Given the description of an element on the screen output the (x, y) to click on. 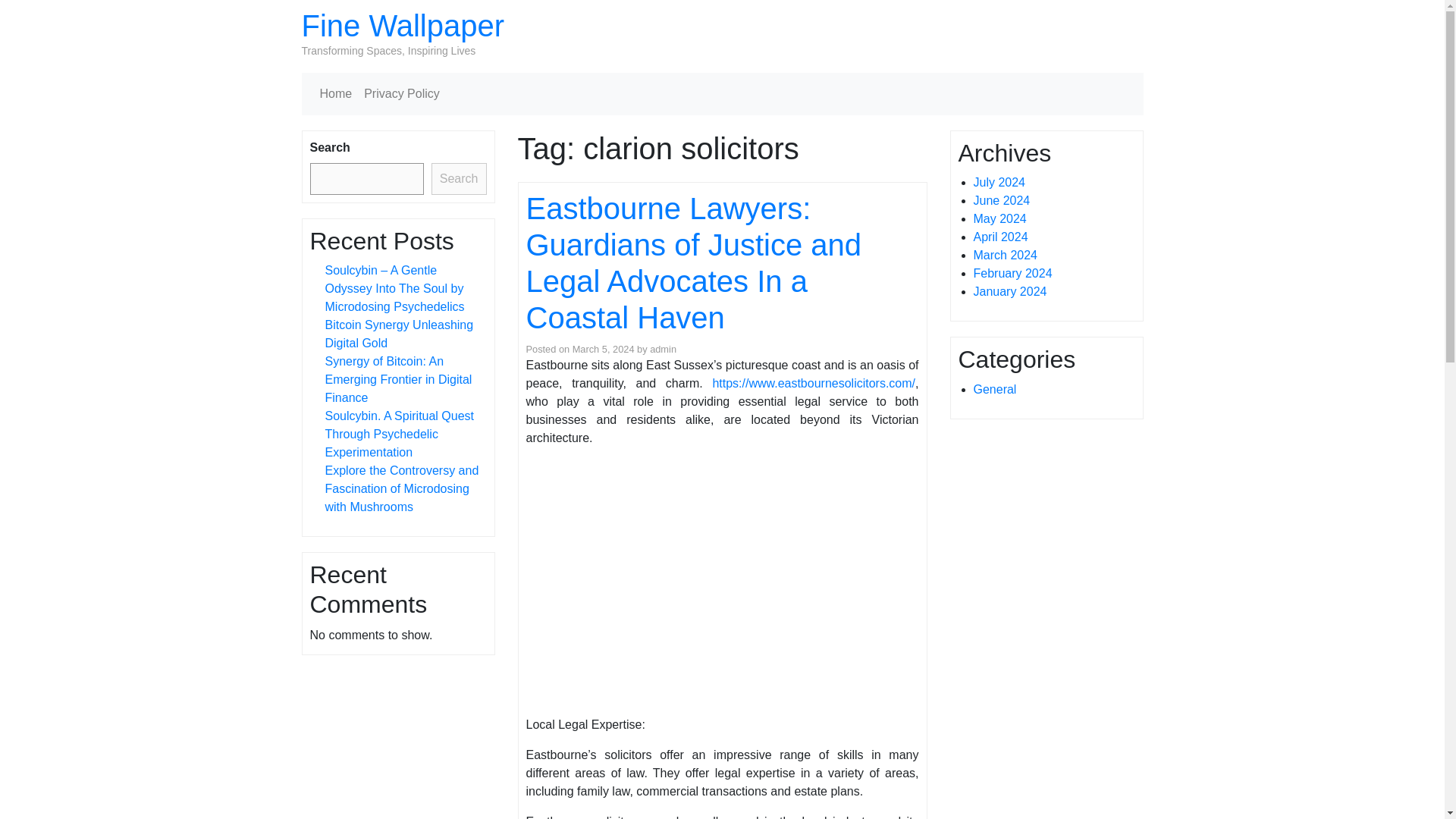
Home (336, 93)
Search (458, 178)
General (995, 389)
April 2024 (1000, 236)
View all posts by admin (663, 348)
June 2024 (1002, 200)
admin (663, 348)
6:53 am (603, 348)
Privacy Policy (401, 93)
